Given the description of an element on the screen output the (x, y) to click on. 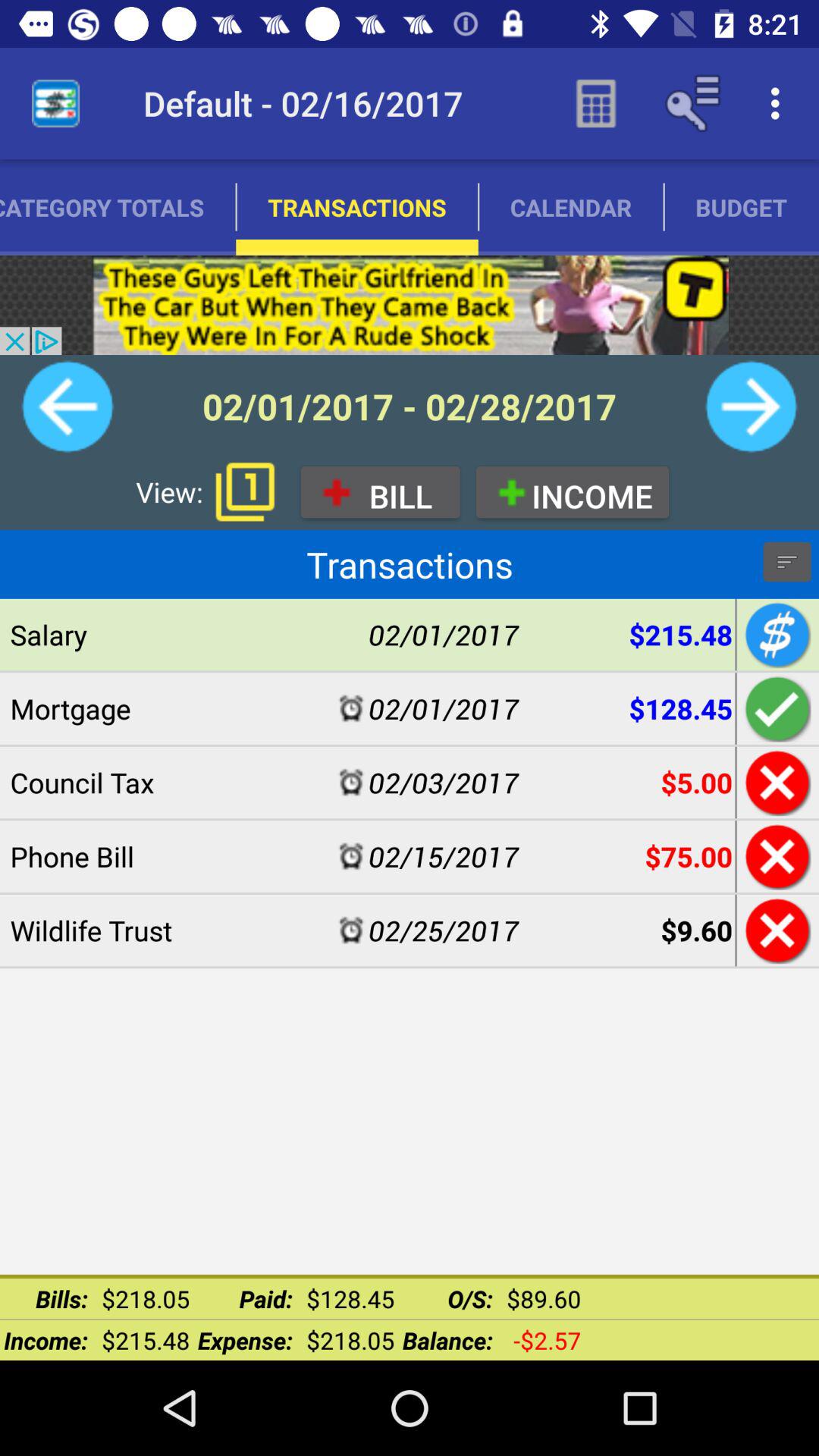
open menu (787, 561)
